Given the description of an element on the screen output the (x, y) to click on. 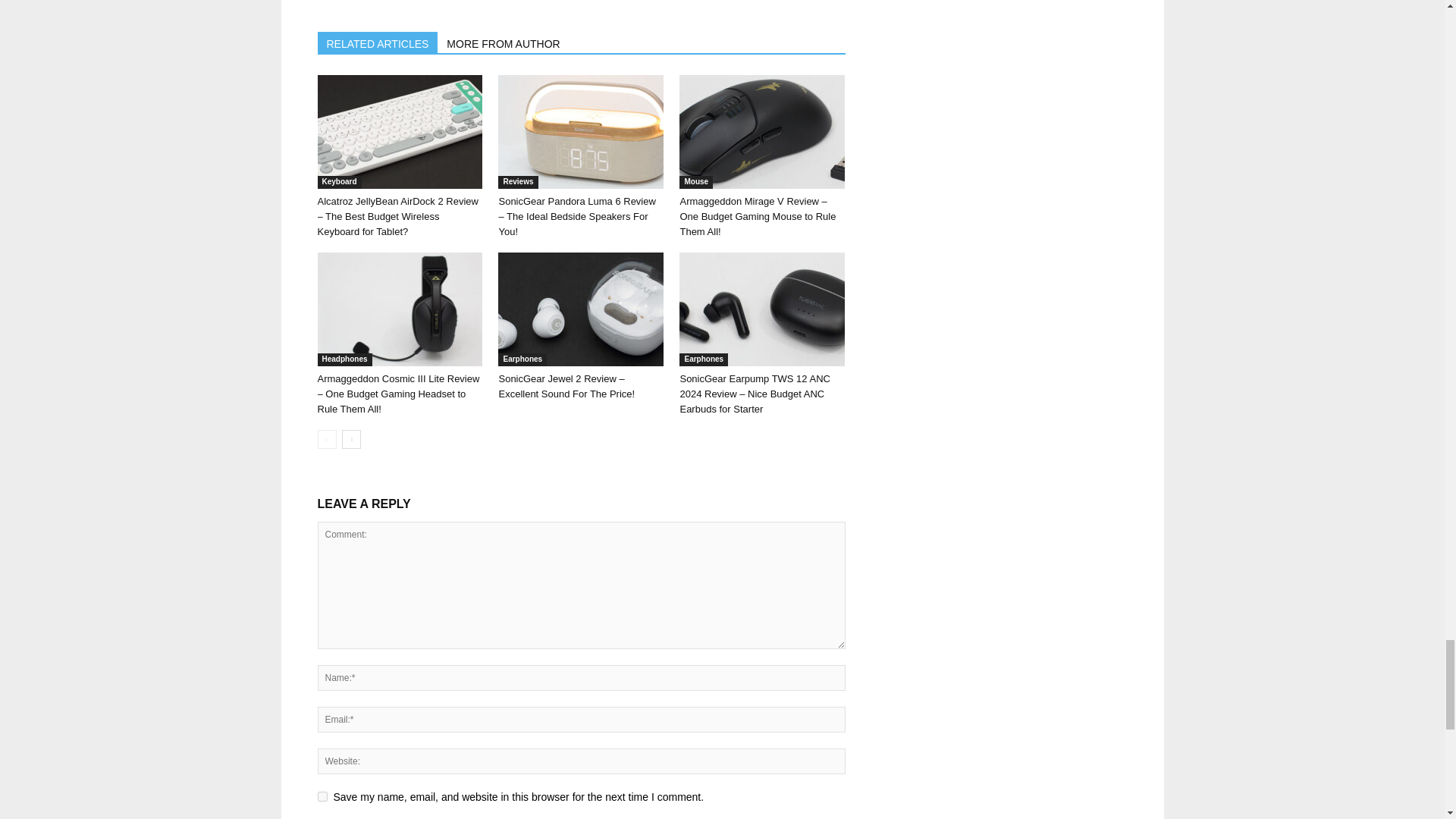
yes (321, 796)
